Given the description of an element on the screen output the (x, y) to click on. 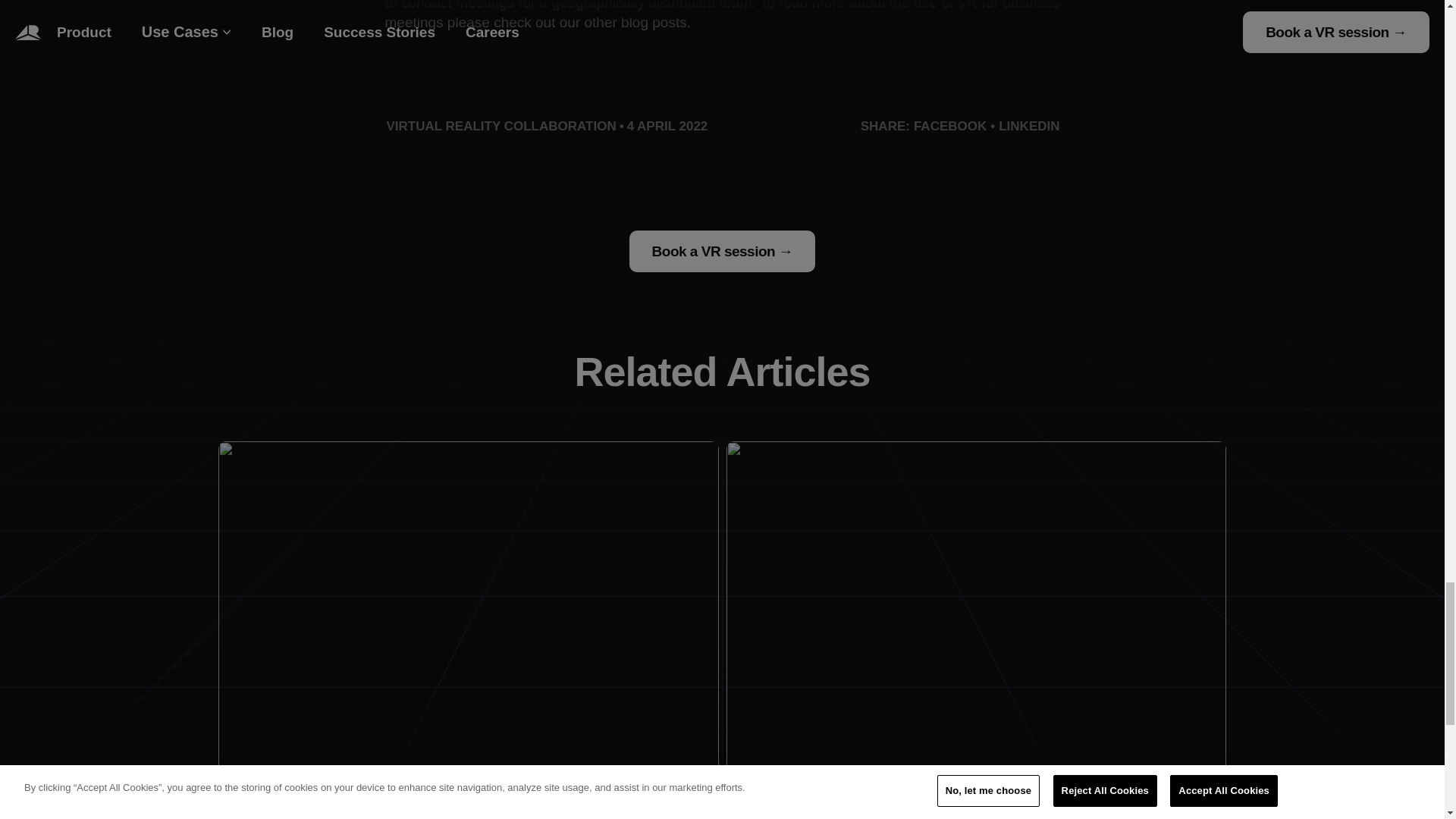
LINKEDIN (1028, 125)
Share on Facebook (950, 125)
FACEBOOK (950, 125)
Share on LinkedIn (1028, 125)
